Given the description of an element on the screen output the (x, y) to click on. 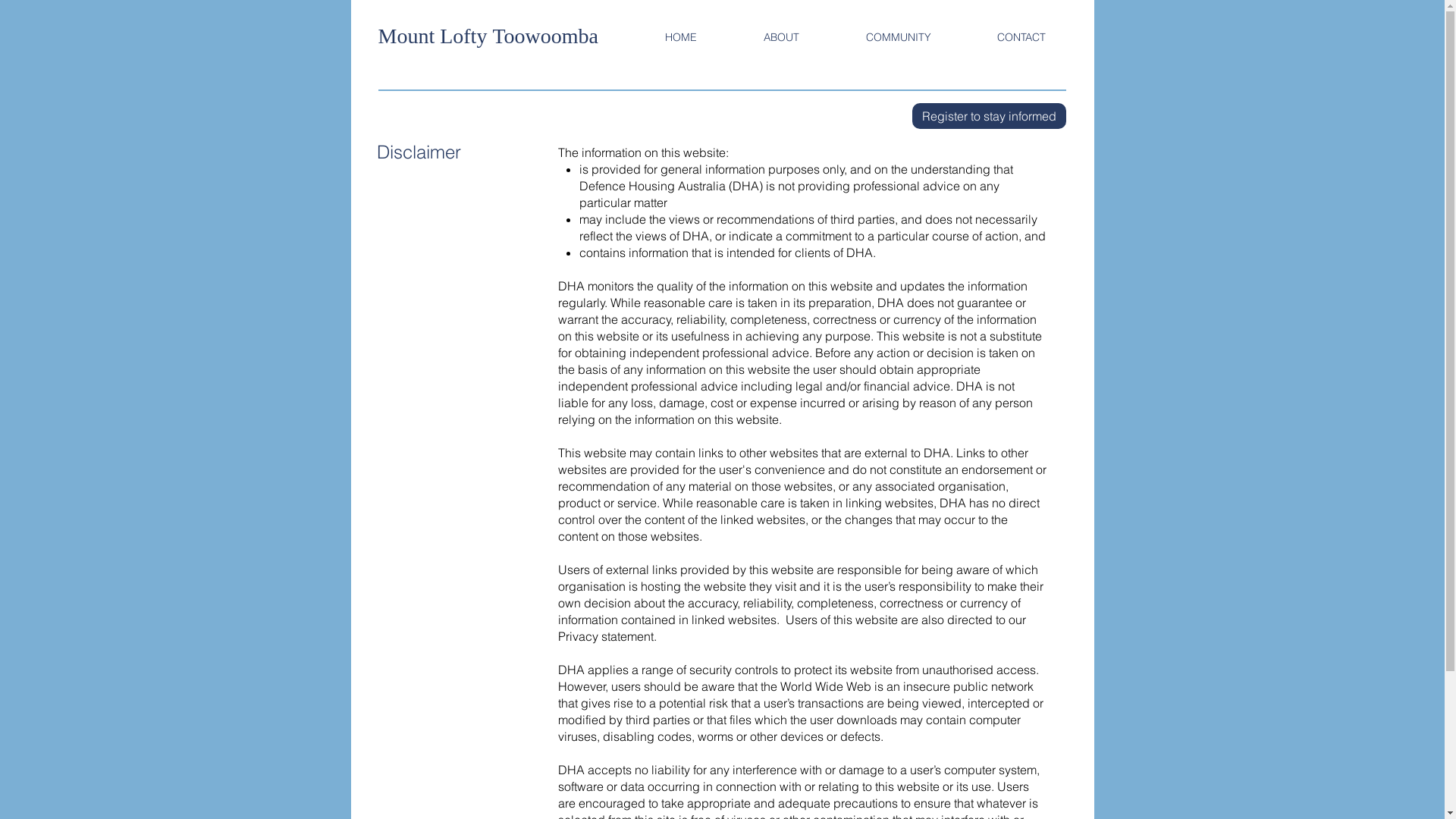
Mount Lofty Element type: text (434, 35)
HOME Element type: text (679, 36)
Register to stay informed Element type: text (988, 115)
CONTACT Element type: text (1021, 36)
Toowoomba Element type: text (545, 35)
